Given the description of an element on the screen output the (x, y) to click on. 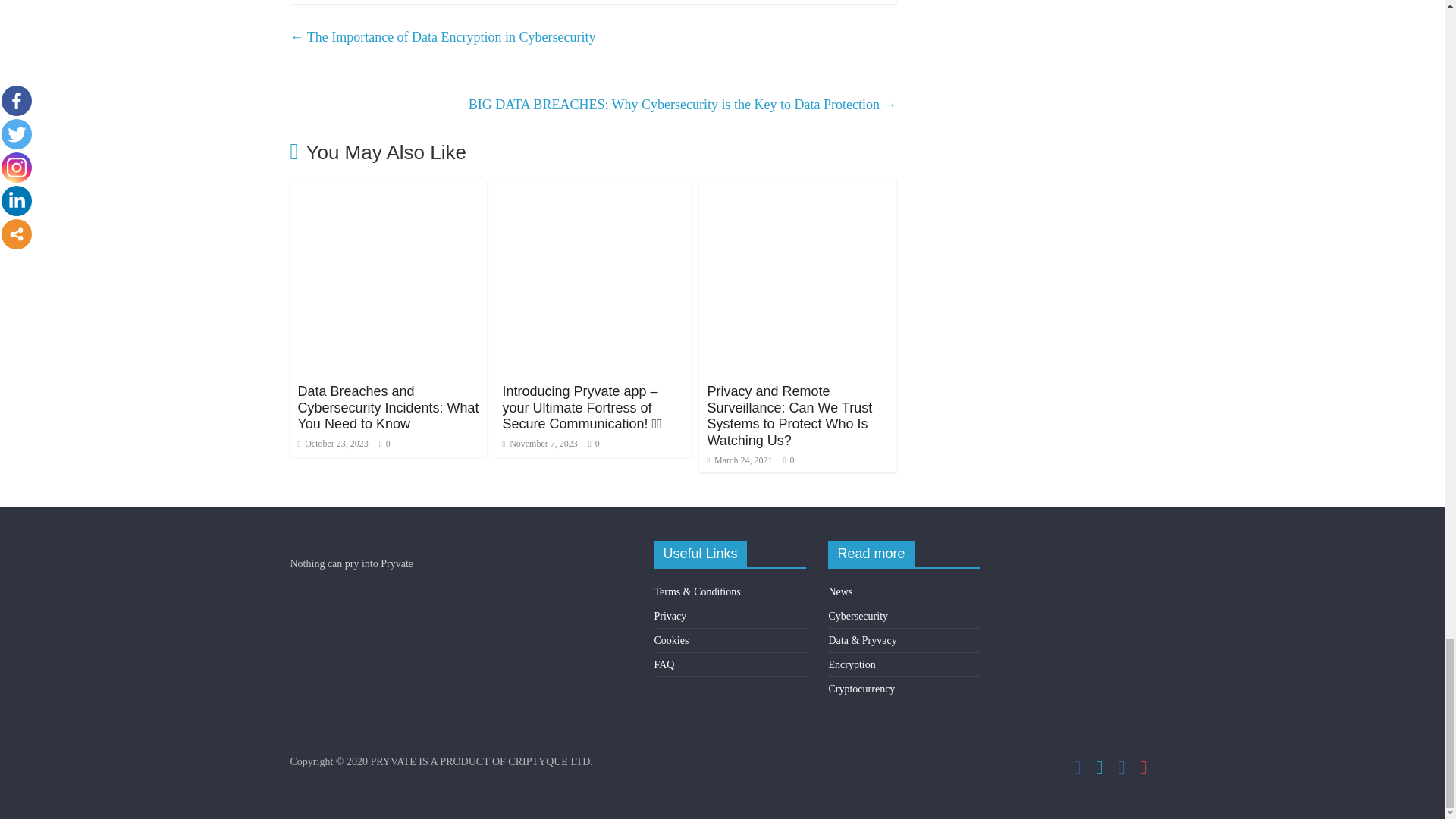
October 23, 2023 (332, 443)
0 (387, 443)
